Given the description of an element on the screen output the (x, y) to click on. 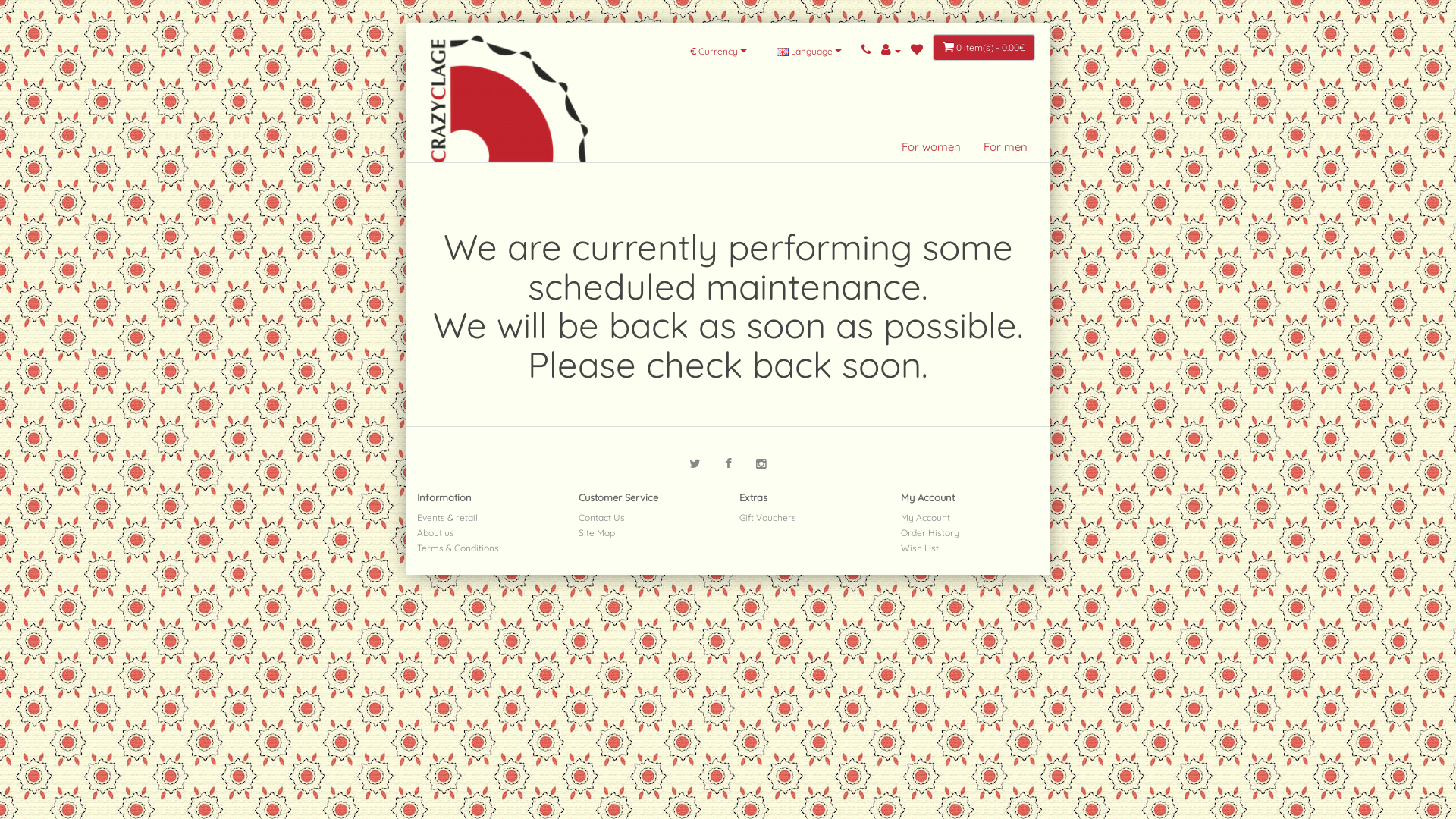
Crazyclage Element type: hover (508, 82)
Terms & Conditions Element type: text (457, 547)
About us Element type: text (435, 532)
Gift Vouchers Element type: text (767, 517)
For women Element type: text (931, 146)
Language Element type: text (808, 50)
Events & retail Element type: text (447, 517)
Wish List (0) Element type: hover (916, 50)
My Account Element type: text (925, 517)
For men Element type: text (1005, 146)
Order History Element type: text (929, 532)
Wish List Element type: text (919, 547)
Contact Us Element type: text (600, 517)
My Account Element type: hover (890, 50)
English Element type: hover (782, 51)
Site Map Element type: text (595, 532)
